Given the description of an element on the screen output the (x, y) to click on. 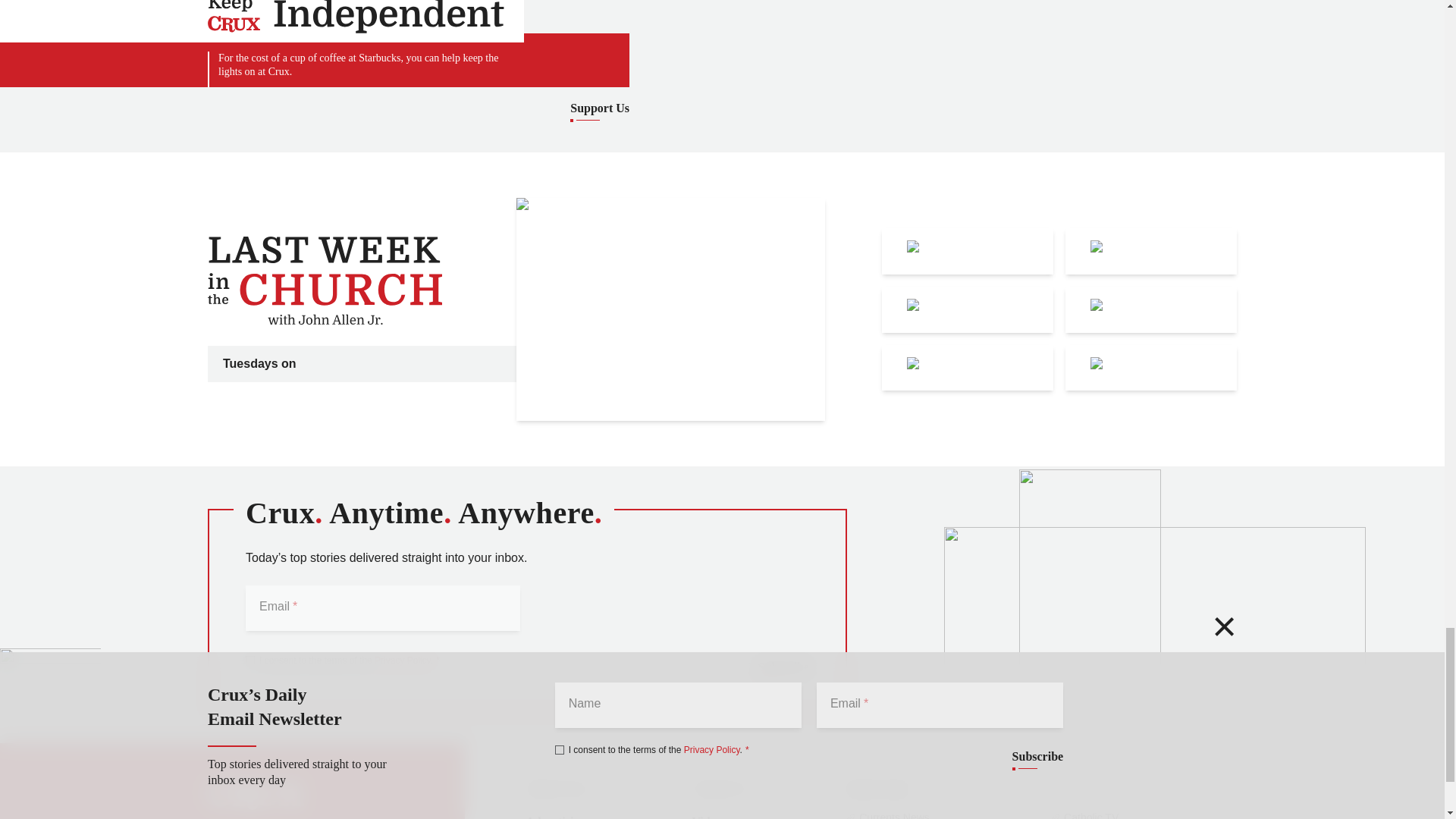
required (293, 605)
true (250, 660)
required (435, 660)
